Given the description of an element on the screen output the (x, y) to click on. 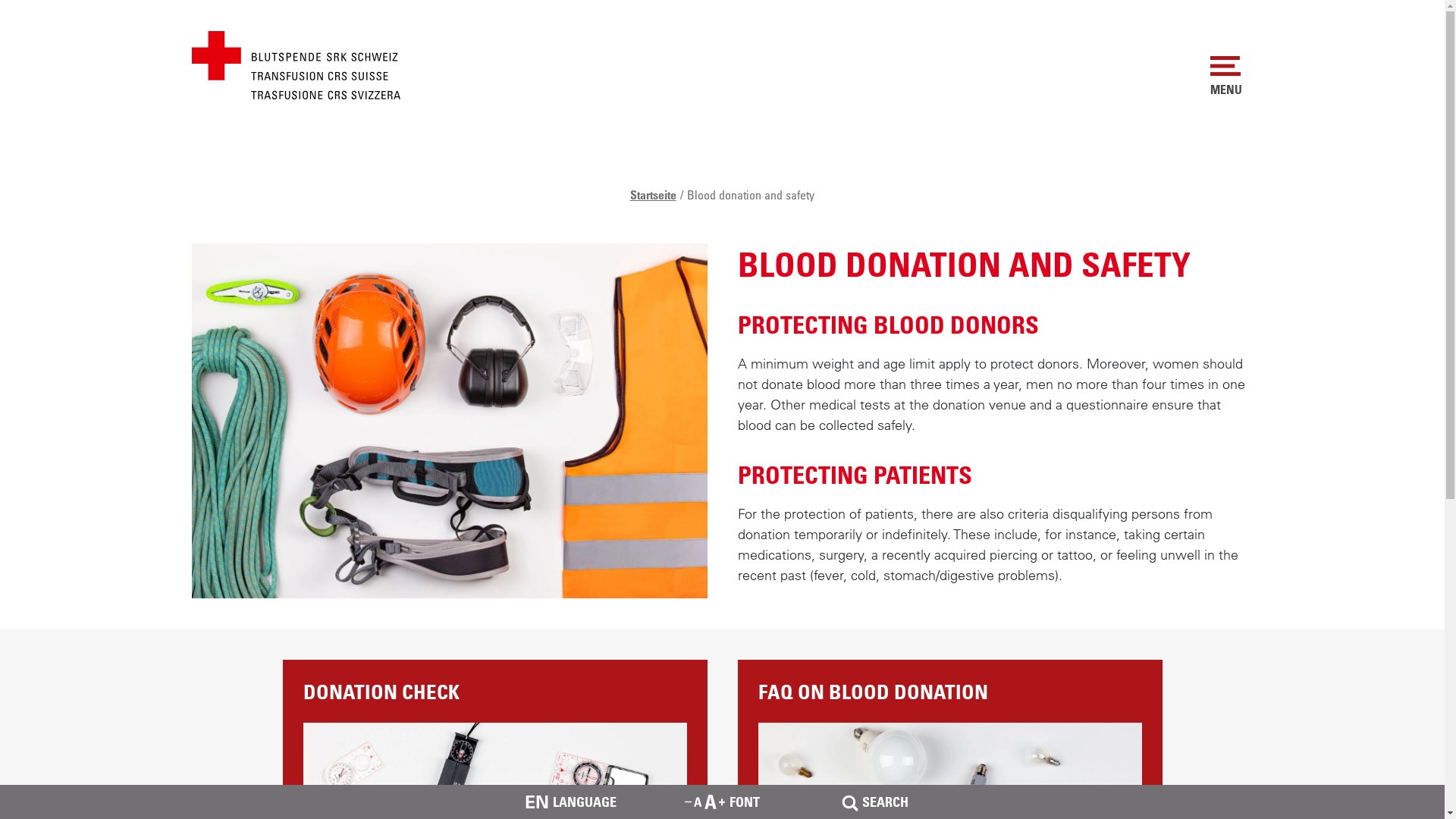
Skip to main content Element type: text (0, 213)
Link zur Startseite Element type: hover (295, 63)
Skip to main content Element type: text (0, 183)
MENU Element type: text (1226, 74)
Startseite Element type: text (653, 194)
